Given the description of an element on the screen output the (x, y) to click on. 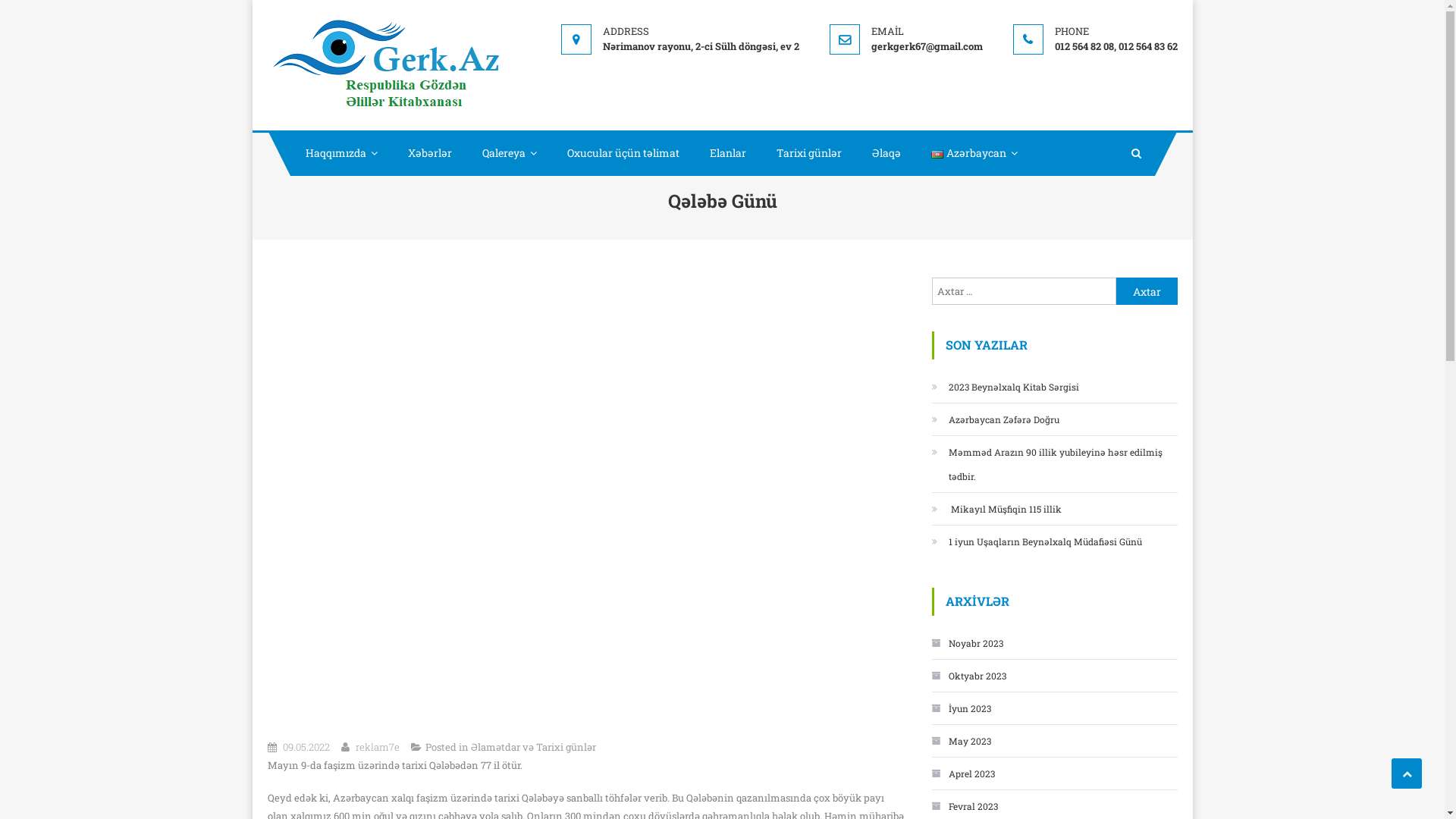
Aprel 2023 Element type: text (962, 773)
Oktyabr 2023 Element type: text (968, 675)
Fevral 2023 Element type: text (964, 805)
Qalereya Element type: text (509, 152)
Noyabr 2023 Element type: text (966, 642)
May 2023 Element type: text (960, 740)
Elanlar Element type: text (727, 152)
09.05.2022 Element type: text (305, 746)
Axtar Element type: text (1146, 290)
GERK.AZ Element type: text (539, 28)
reklam7e Element type: text (376, 746)
